Given the description of an element on the screen output the (x, y) to click on. 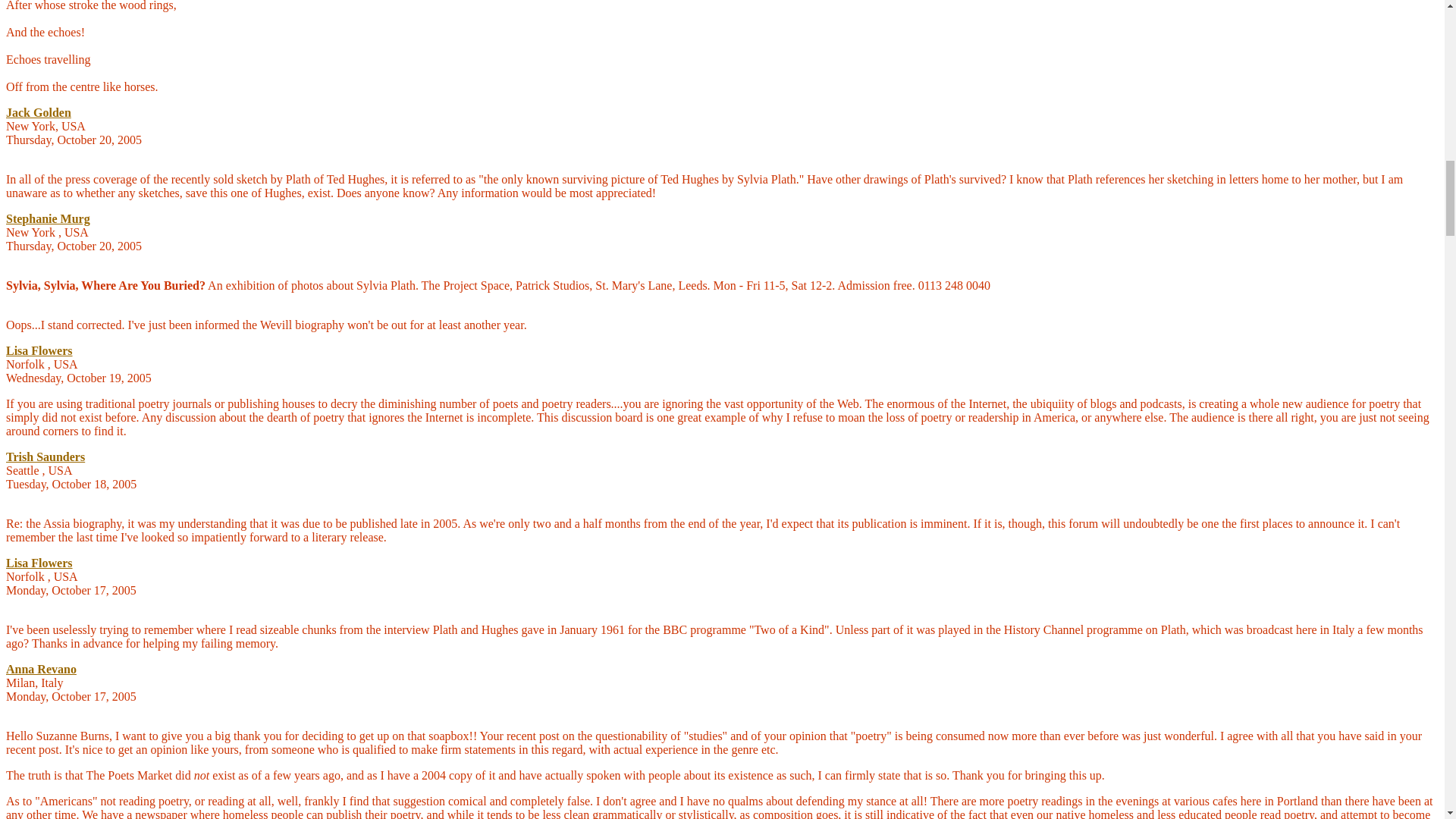
Lisa Flowers (38, 562)
Lisa Flowers (38, 350)
Jack Golden (38, 112)
Anna Revano (41, 668)
Trish Saunders (44, 456)
Stephanie Murg (47, 218)
